Given the description of an element on the screen output the (x, y) to click on. 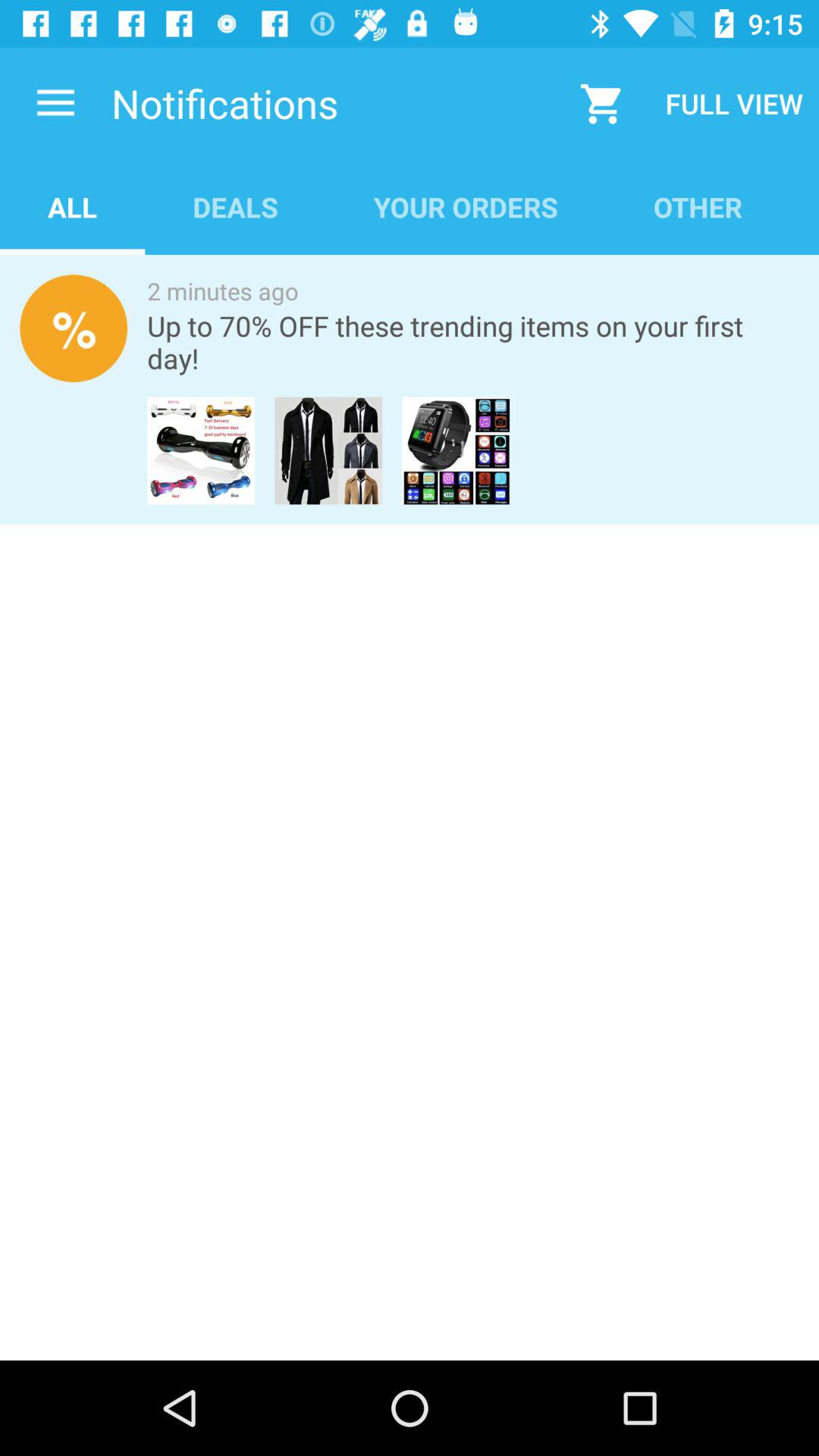
choose the icon to the right of all app (235, 206)
